Given the description of an element on the screen output the (x, y) to click on. 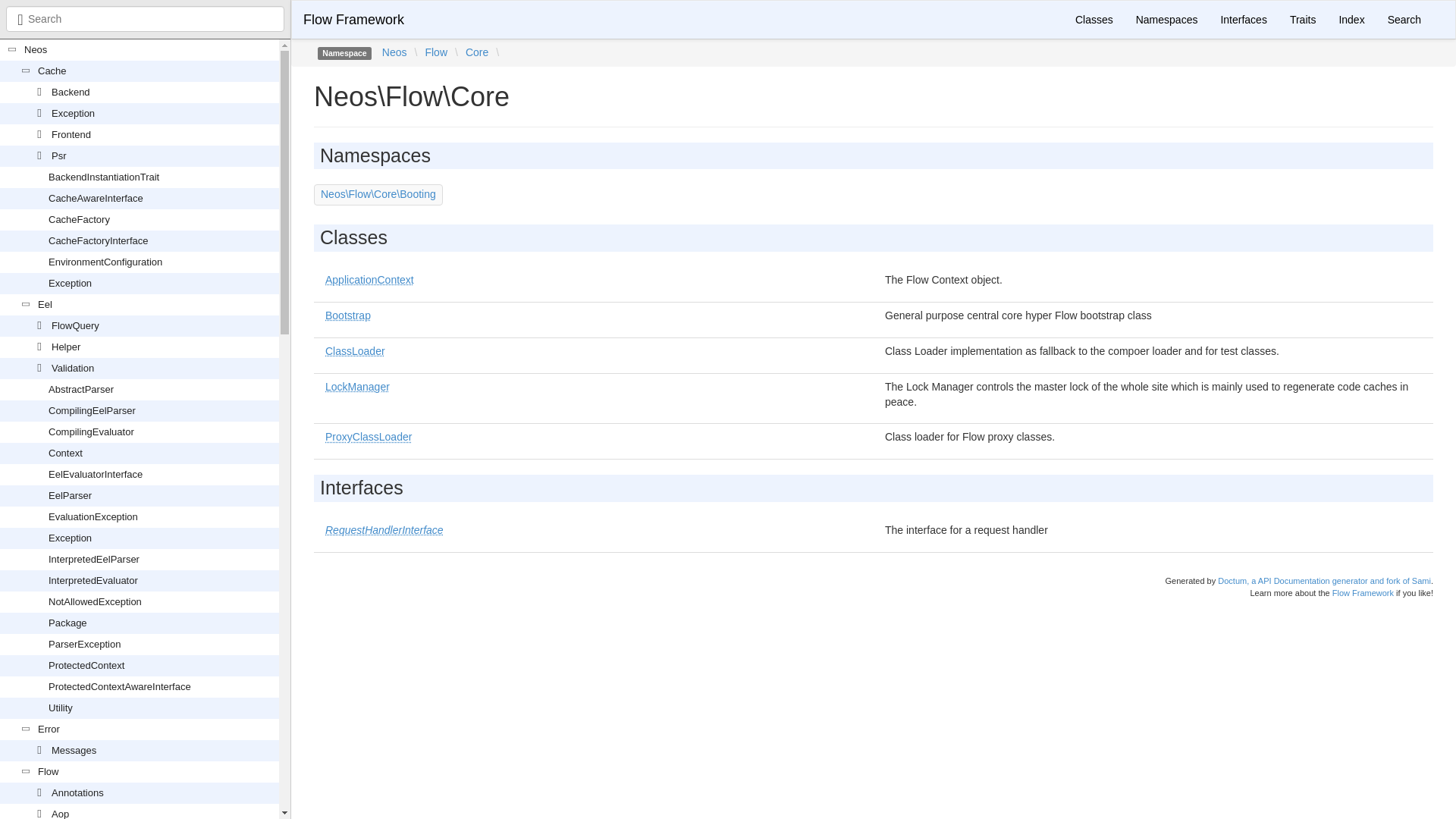
Backend (70, 91)
Cache (51, 70)
Frontend (70, 134)
Exception (72, 112)
Psr (58, 155)
Neos (35, 49)
